Given the description of an element on the screen output the (x, y) to click on. 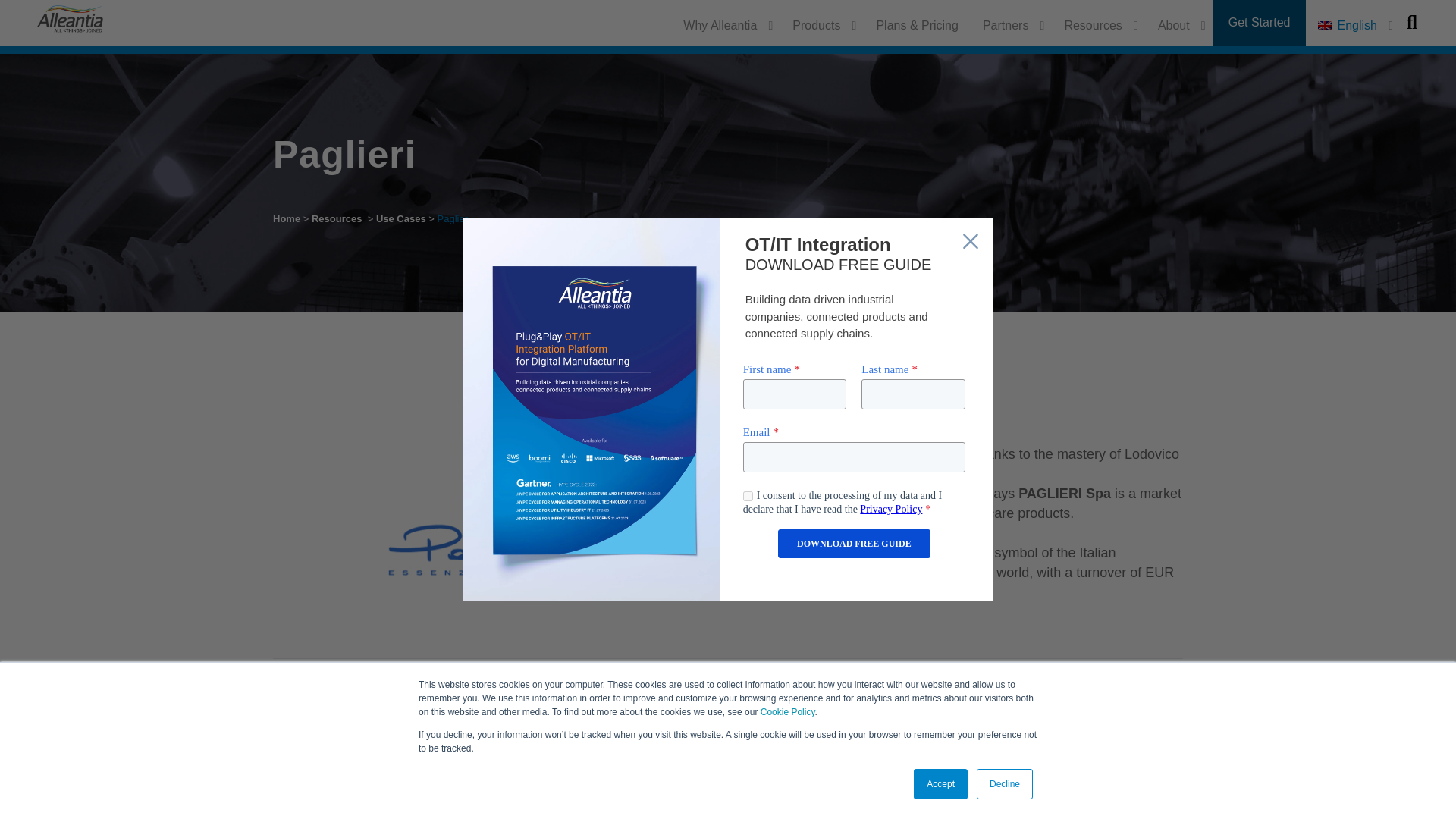
Accept (941, 784)
Cookie Policy (787, 711)
Decline (1004, 784)
English (1353, 25)
